Given the description of an element on the screen output the (x, y) to click on. 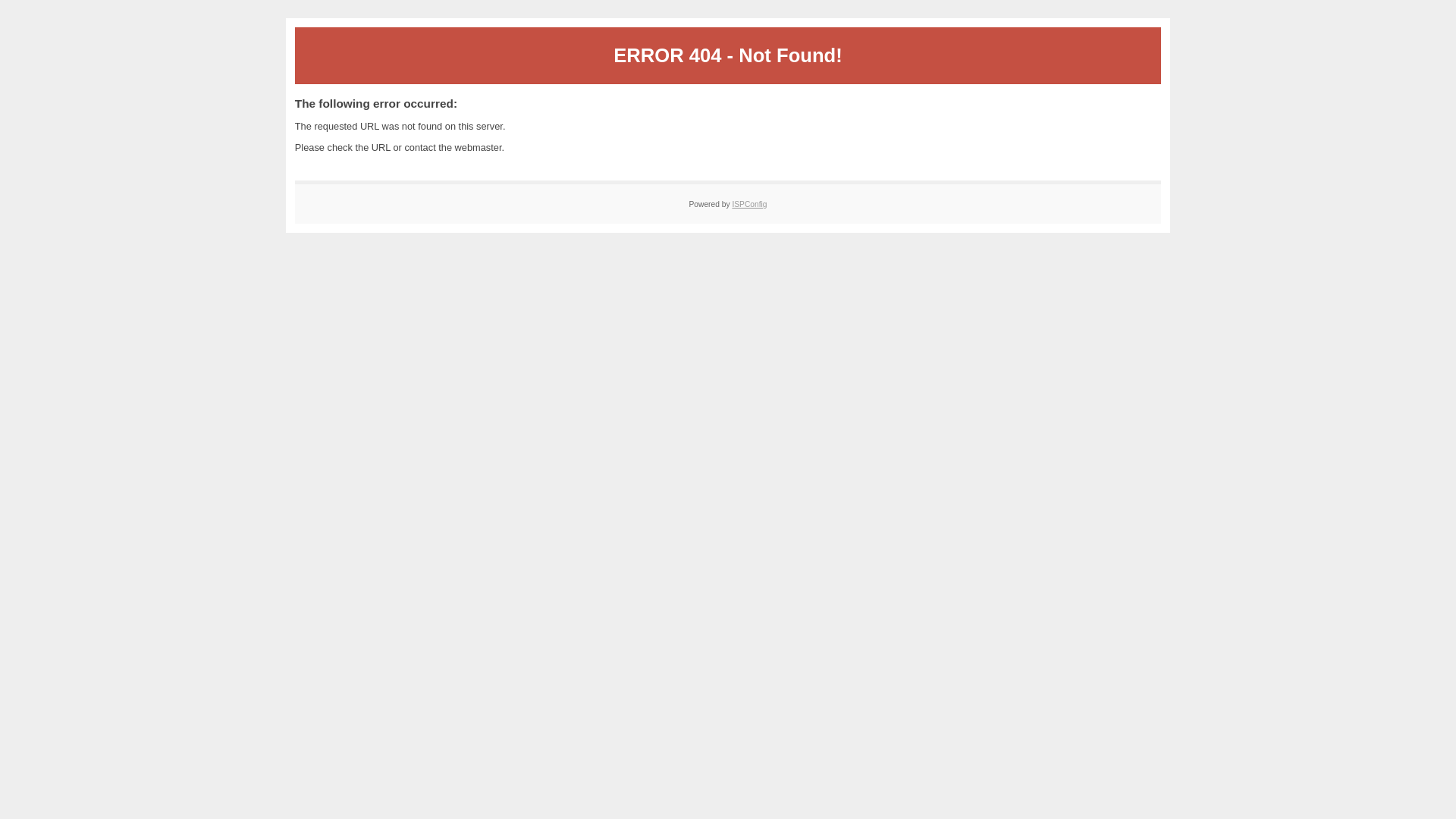
ISPConfig Element type: text (748, 204)
